Given the description of an element on the screen output the (x, y) to click on. 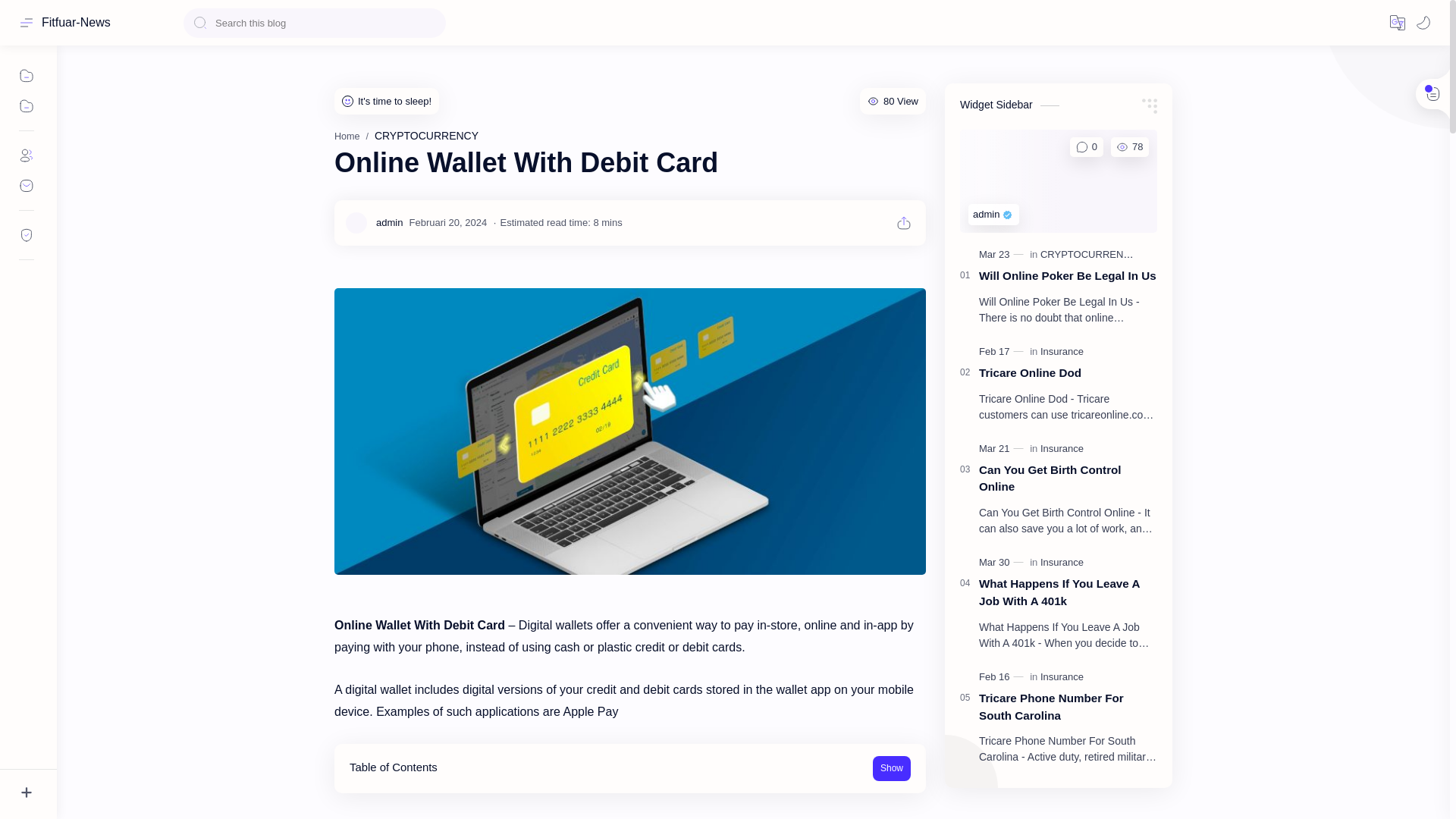
Published: Maret 21, 2024 (1002, 448)
Published: Februari 16, 2024 (1002, 676)
Published: Maret 30, 2024 (1002, 562)
Published: Maret 23, 2024 (1002, 254)
Published: Februari 17, 2024 (1002, 351)
Fitfuar-News (76, 22)
CRYPTOCURRENCY (426, 135)
Home (346, 136)
Published: Februari 20, 2024 (447, 222)
